Given the description of an element on the screen output the (x, y) to click on. 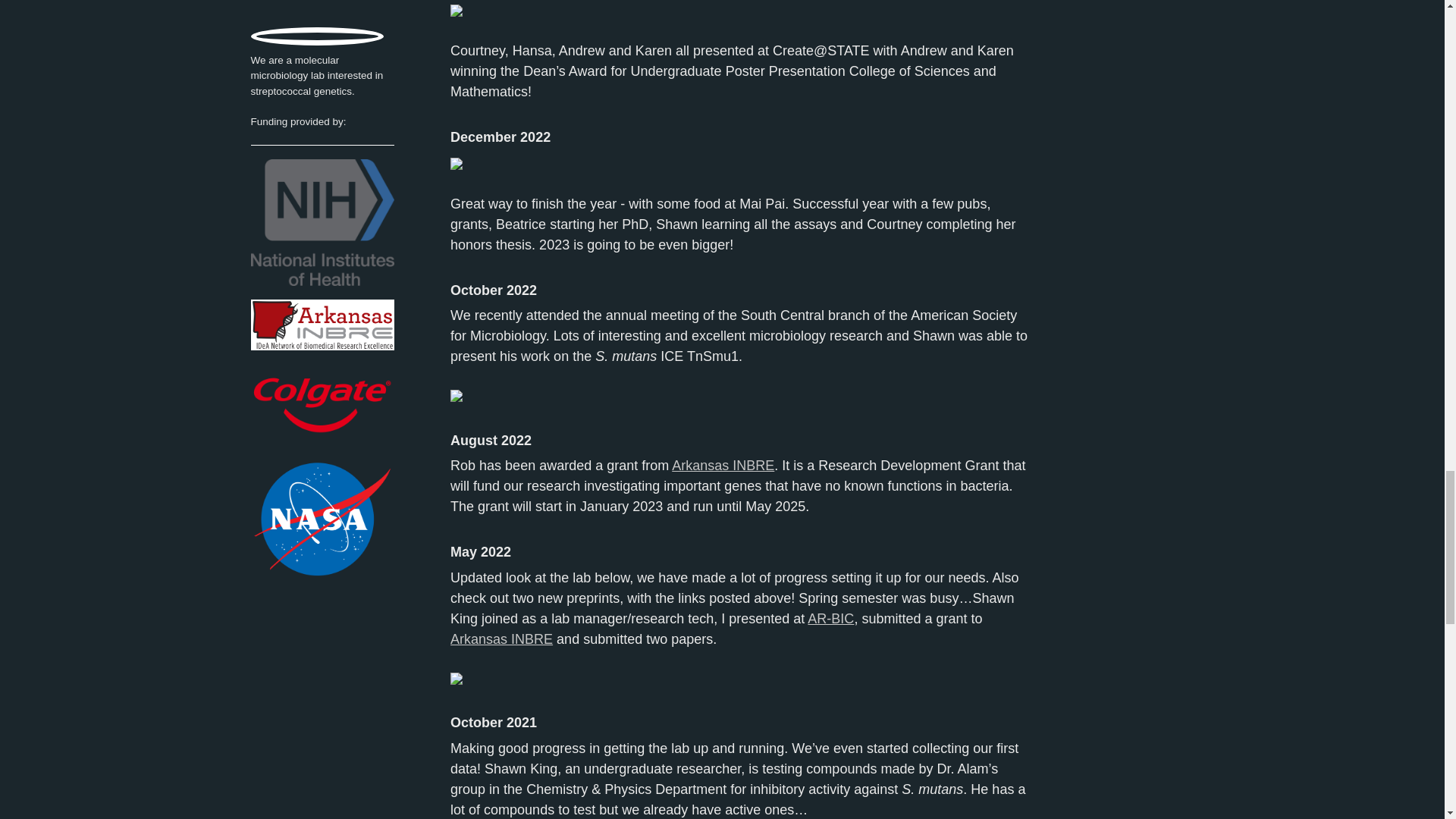
AR-BIC (830, 618)
Arkansas INBRE (501, 639)
Arkansas INBRE (722, 465)
